Given the description of an element on the screen output the (x, y) to click on. 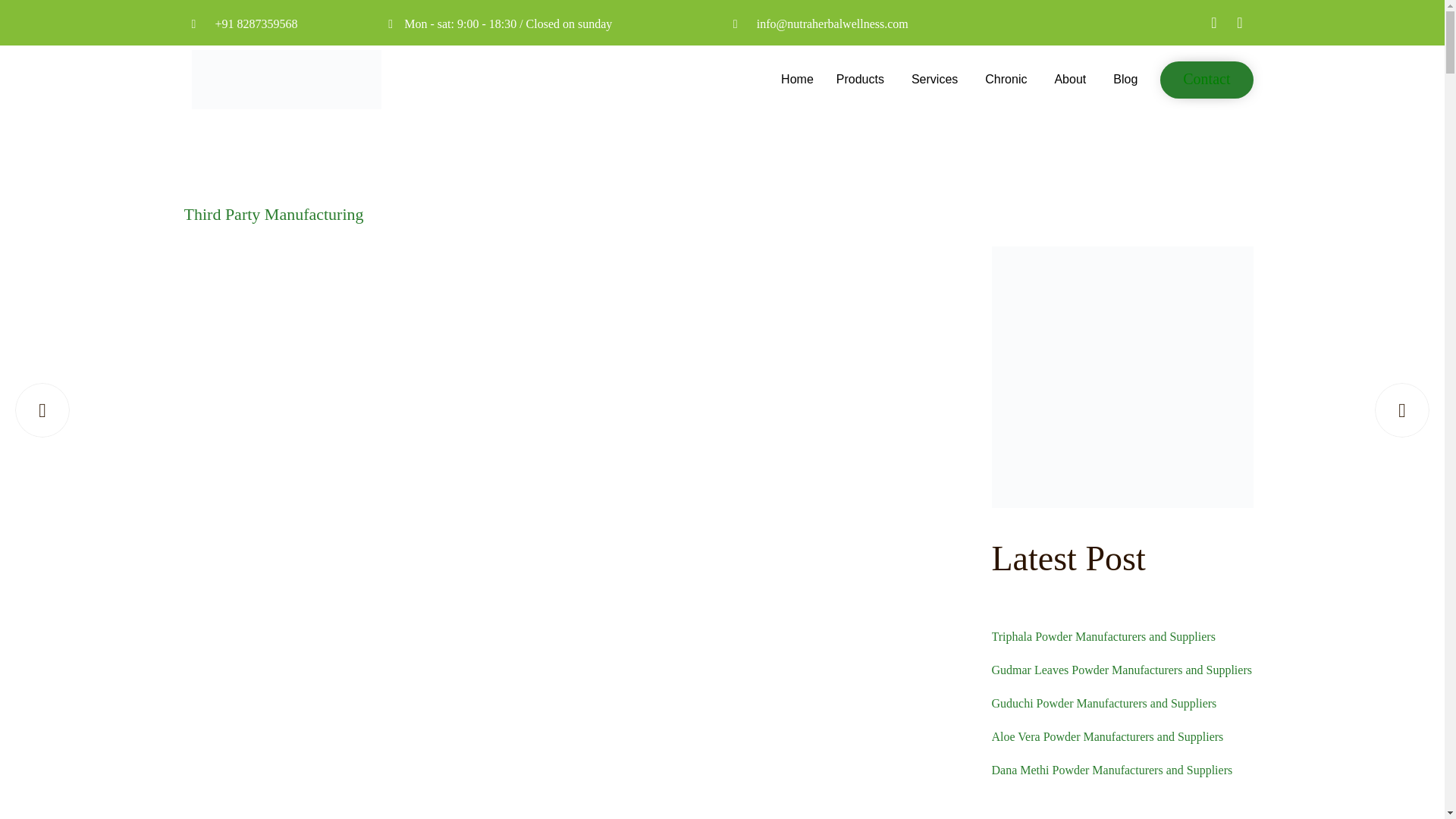
Blog (1125, 79)
Home (797, 79)
Products (862, 79)
Services (936, 79)
Chronic (1008, 79)
About (1072, 79)
